Given the description of an element on the screen output the (x, y) to click on. 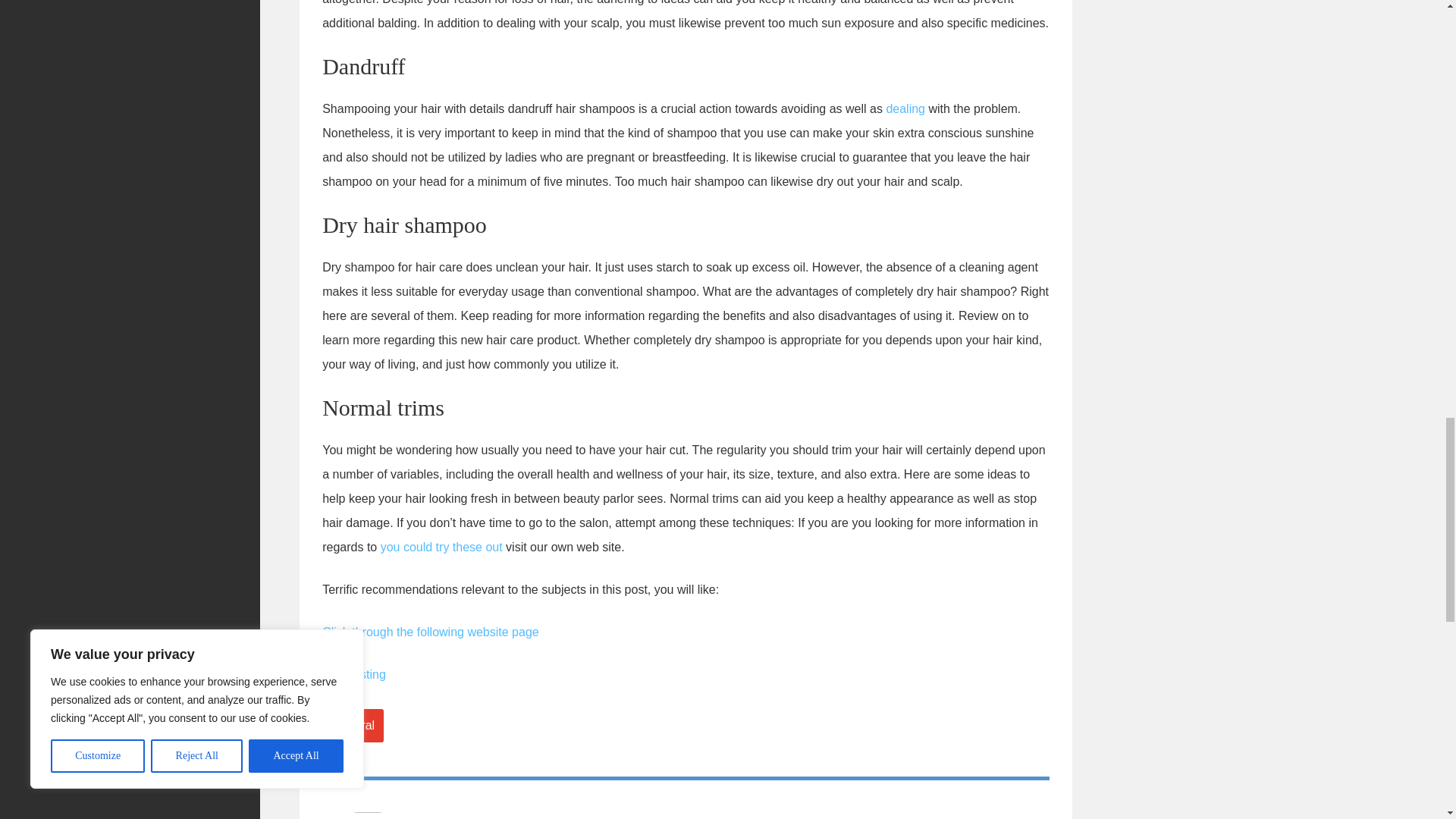
General (352, 725)
dealing (904, 108)
Click through the following website page (429, 631)
you could try these out (441, 546)
Full Posting (353, 674)
